Given the description of an element on the screen output the (x, y) to click on. 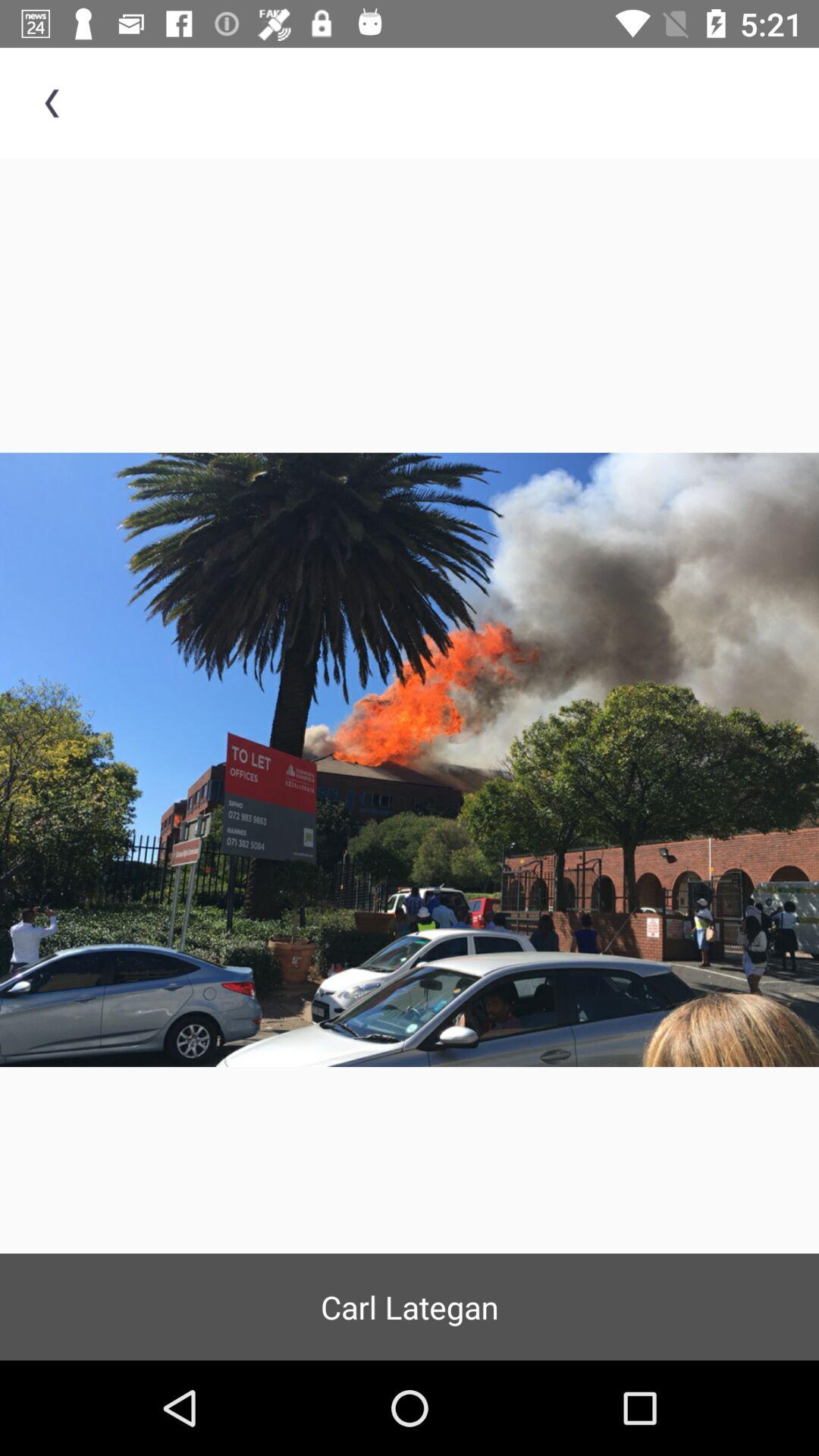
select item at the top left corner (55, 103)
